Given the description of an element on the screen output the (x, y) to click on. 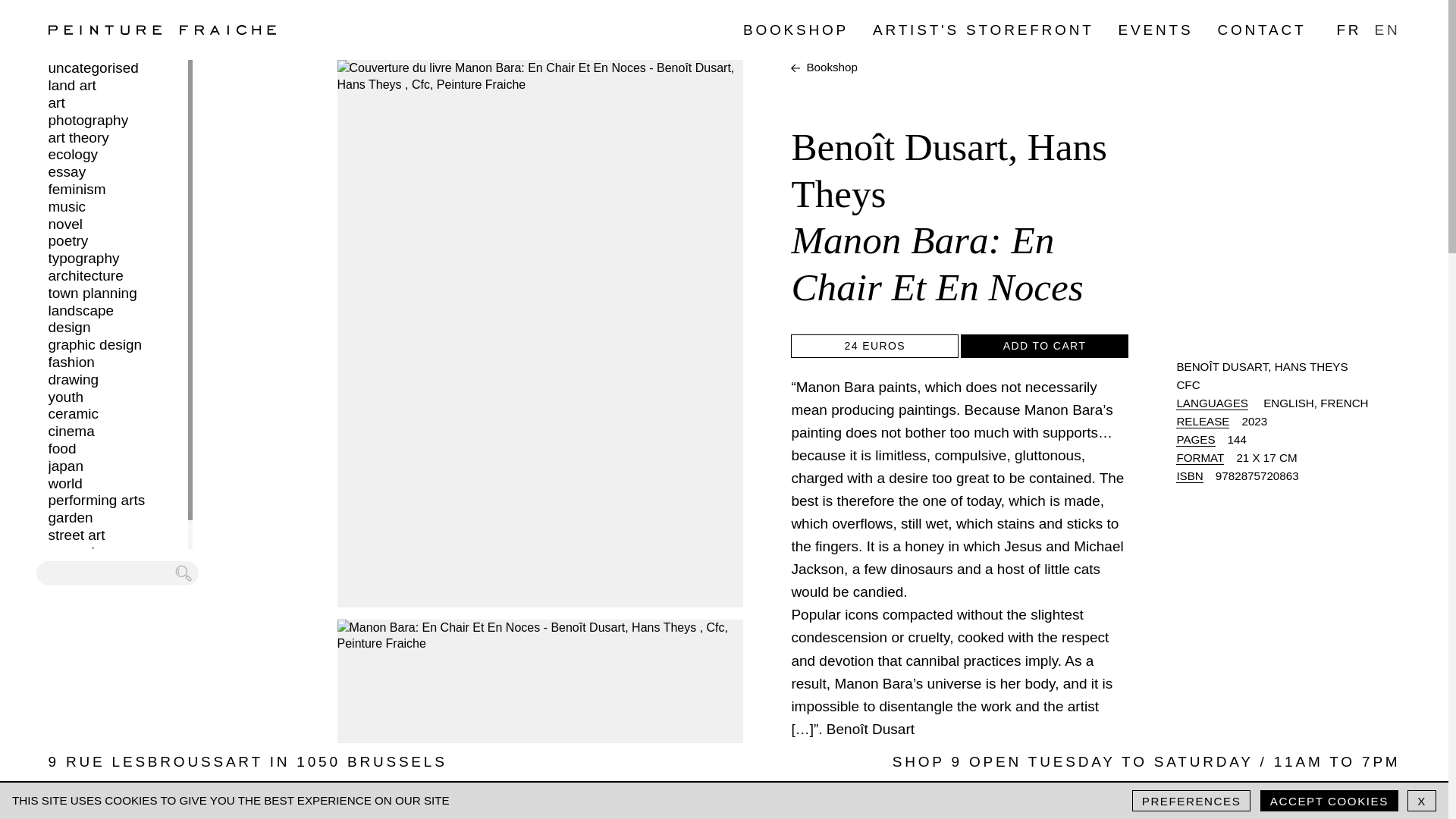
ARTIST'S STOREFRONT (983, 29)
Events (1155, 29)
EVENTS (1155, 29)
Bookshop (795, 29)
EN (1386, 29)
BOOKSHOP (795, 29)
Contact (1261, 29)
Artist's storefront (983, 29)
CONTACT (1261, 29)
FR (1348, 29)
